Given the description of an element on the screen output the (x, y) to click on. 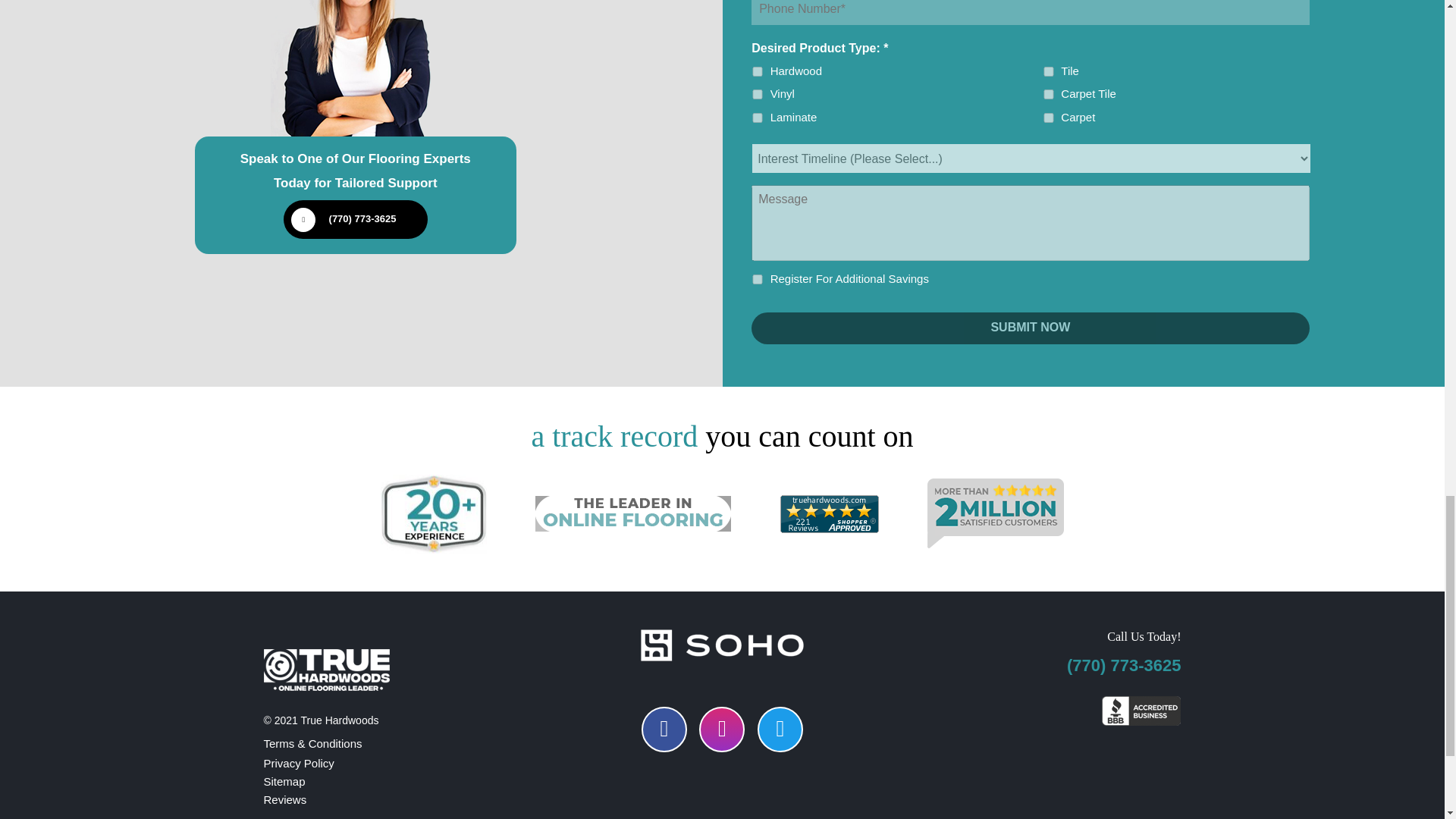
Hardwood (757, 71)
Carpet Tile (1048, 94)
Carpet (1048, 117)
Tile (1048, 71)
Vinyl (757, 94)
Submit Now (1029, 327)
Laminate (757, 117)
Register For Additional Savings (757, 279)
